Given the description of an element on the screen output the (x, y) to click on. 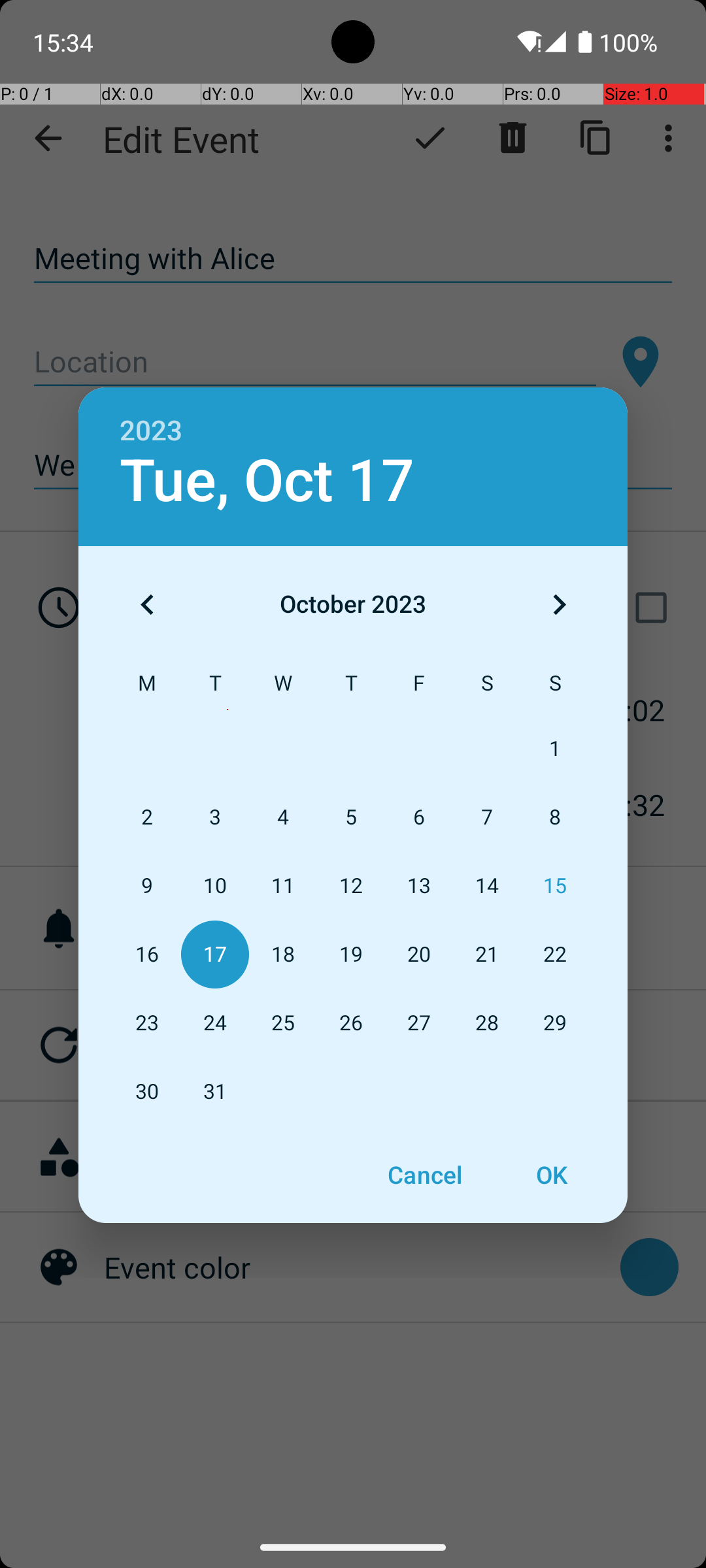
Tue, Oct 17 Element type: android.widget.TextView (267, 480)
